Given the description of an element on the screen output the (x, y) to click on. 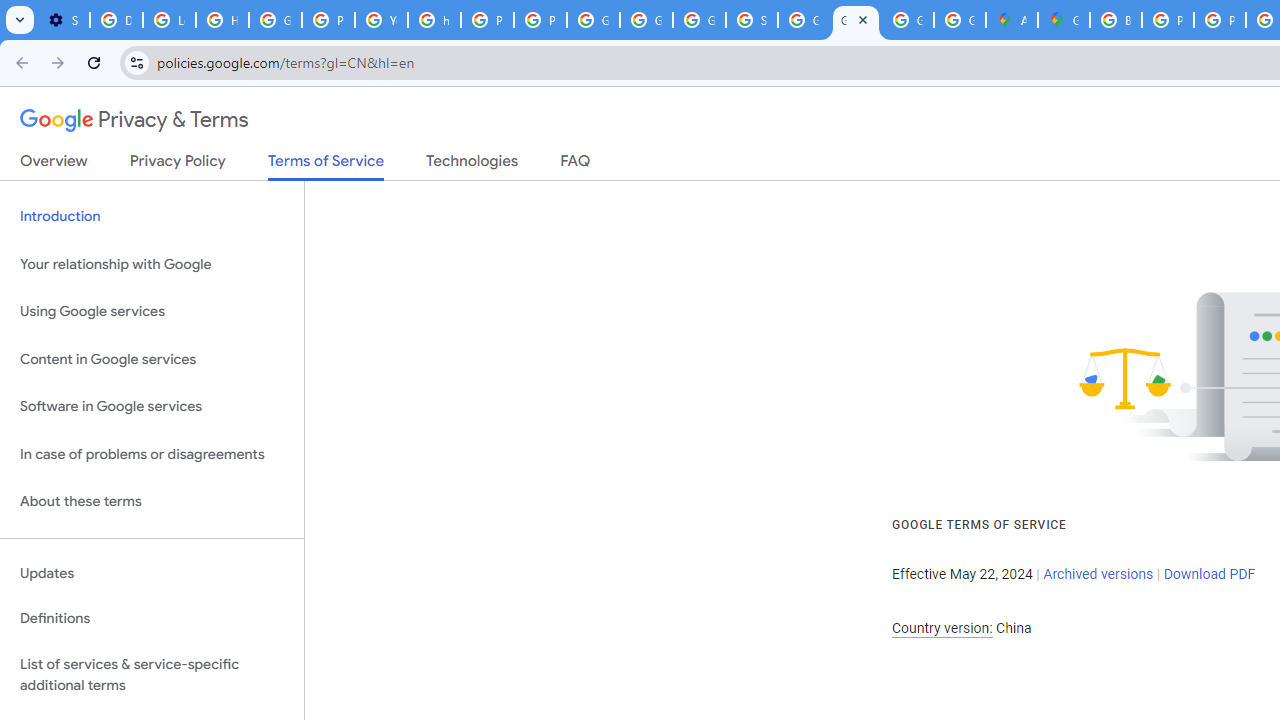
About these terms (152, 502)
Software in Google services (152, 407)
Google Account Help (275, 20)
Privacy Help Center - Policies Help (487, 20)
Sign in - Google Accounts (751, 20)
Content in Google services (152, 358)
Google Maps (1064, 20)
Learn how to find your photos - Google Photos Help (169, 20)
Your relationship with Google (152, 263)
Privacy & Terms (134, 120)
